Given the description of an element on the screen output the (x, y) to click on. 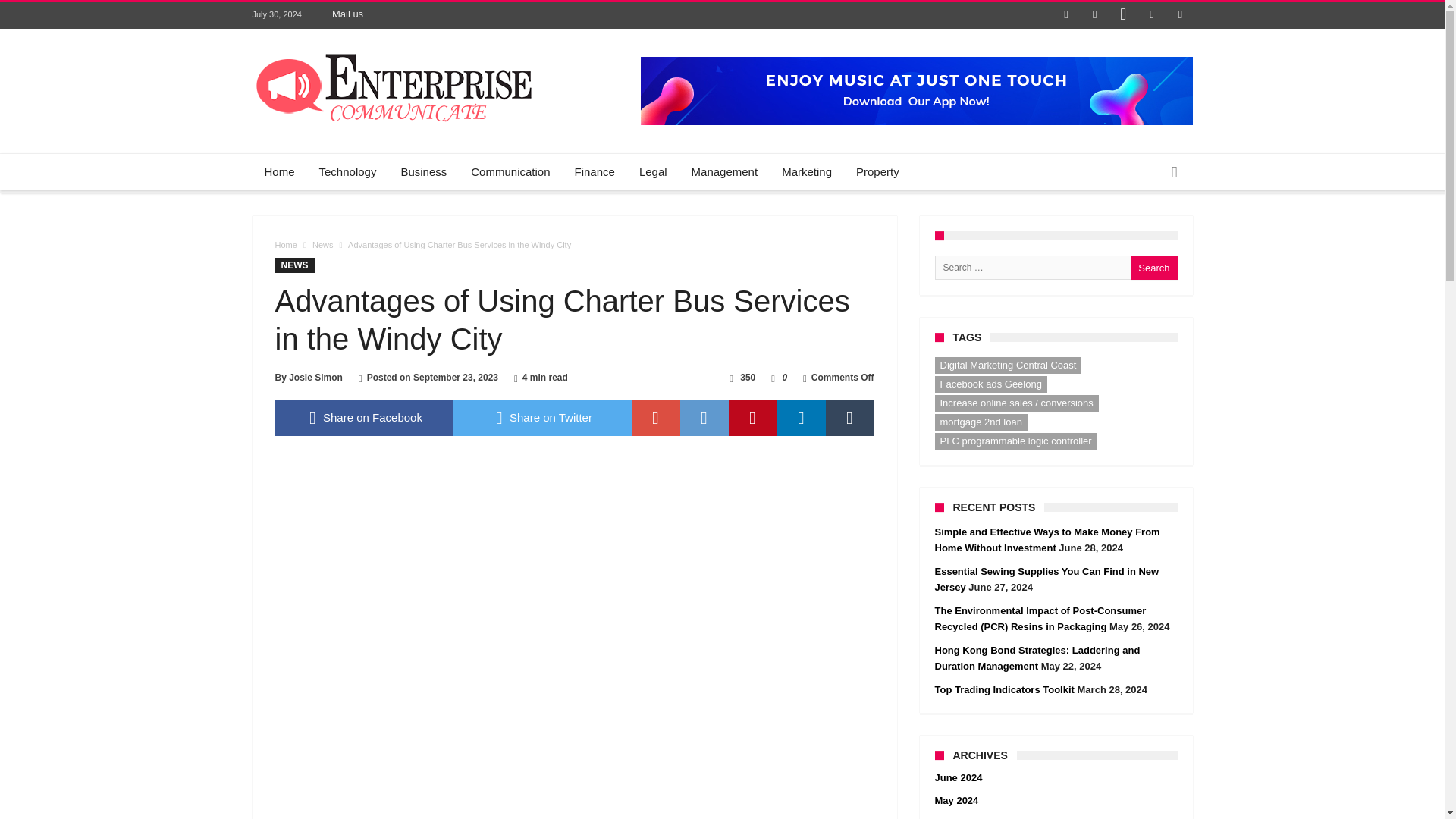
Vimeo (1179, 15)
Legal (653, 171)
Home (278, 171)
Home (286, 244)
Search (1153, 267)
Property (877, 171)
Finance (594, 171)
Share on Reddit (703, 417)
Dribbble (1151, 15)
NEWS (294, 264)
Facebook (1066, 15)
Share on Pinterest (752, 417)
Josie Simon (315, 377)
Marketing (807, 171)
Mail us (347, 14)
